Given the description of an element on the screen output the (x, y) to click on. 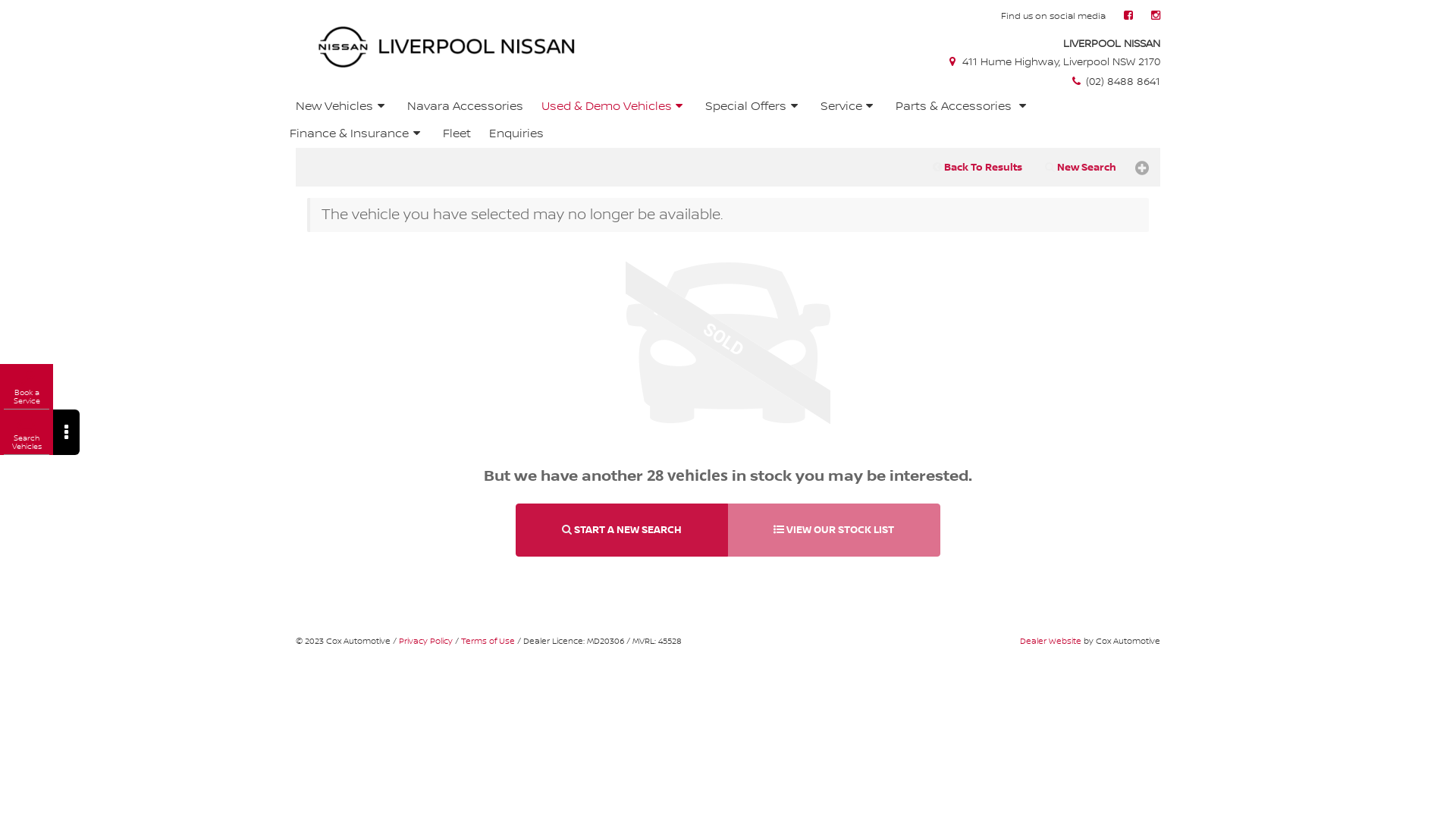
Used & Demo Vehicles Element type: text (614, 106)
New Vehicles Element type: text (339, 106)
Enquiries Element type: text (516, 133)
Back To Results Element type: text (977, 167)
Book a Service Element type: text (26, 387)
(02) 8488 8641 Element type: text (1114, 81)
Fleet Element type: text (456, 133)
Service Element type: text (849, 106)
Instagram Element type: hover (1155, 15)
START A NEW SEARCH Element type: text (621, 530)
Privacy Policy Element type: text (425, 641)
Special Offers Element type: text (753, 106)
VIEW OUR STOCK LIST Element type: text (833, 530)
Parts & Accessories Element type: text (962, 106)
Search Vehicles Element type: text (26, 432)
Navara Accessories Element type: text (465, 106)
Terms of Use Element type: text (487, 641)
New Search Element type: text (1080, 167)
411 Hume Highway, Liverpool NSW 2170 Element type: text (1052, 62)
Dealer Website Element type: text (1050, 641)
Finance & Insurance Element type: text (356, 133)
Facebook Element type: hover (1127, 15)
